Given the description of an element on the screen output the (x, y) to click on. 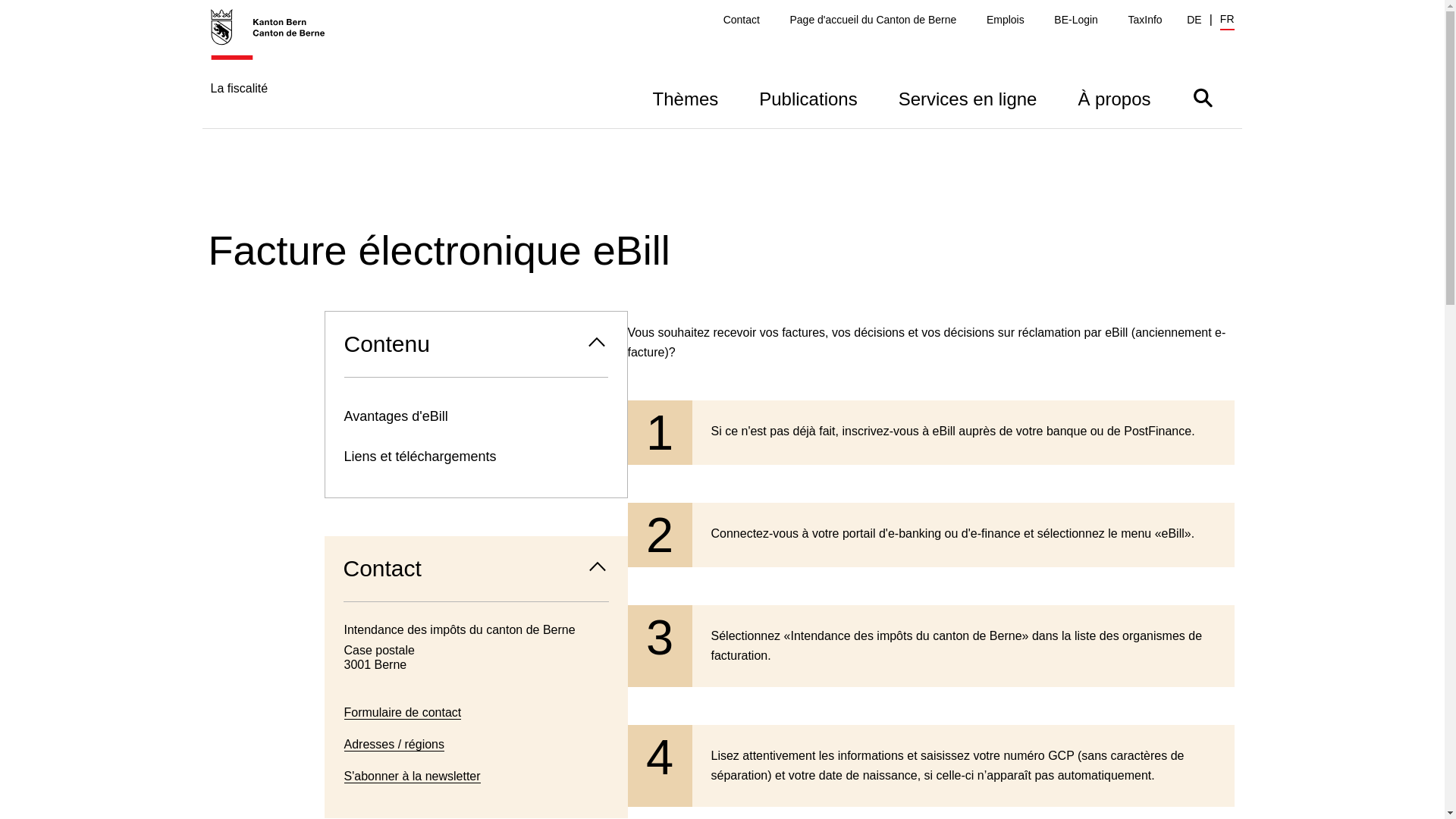
Contact Element type: text (475, 568)
TaxInfo Element type: text (1144, 19)
Page d'accueil du Canton de Berne Element type: text (872, 19)
BE-Login Element type: text (1076, 19)
Emplois Element type: text (1005, 19)
FR Element type: text (1227, 21)
Afficher/masquer la barre de recherche Element type: text (1201, 96)
Contact Element type: text (741, 19)
Formulaire de contact Element type: text (402, 712)
Publications Element type: text (807, 96)
DE Element type: text (1193, 19)
Contenu Element type: text (475, 343)
Avantages d'eBill Element type: text (475, 416)
Services en ligne Element type: text (967, 96)
